Given the description of an element on the screen output the (x, y) to click on. 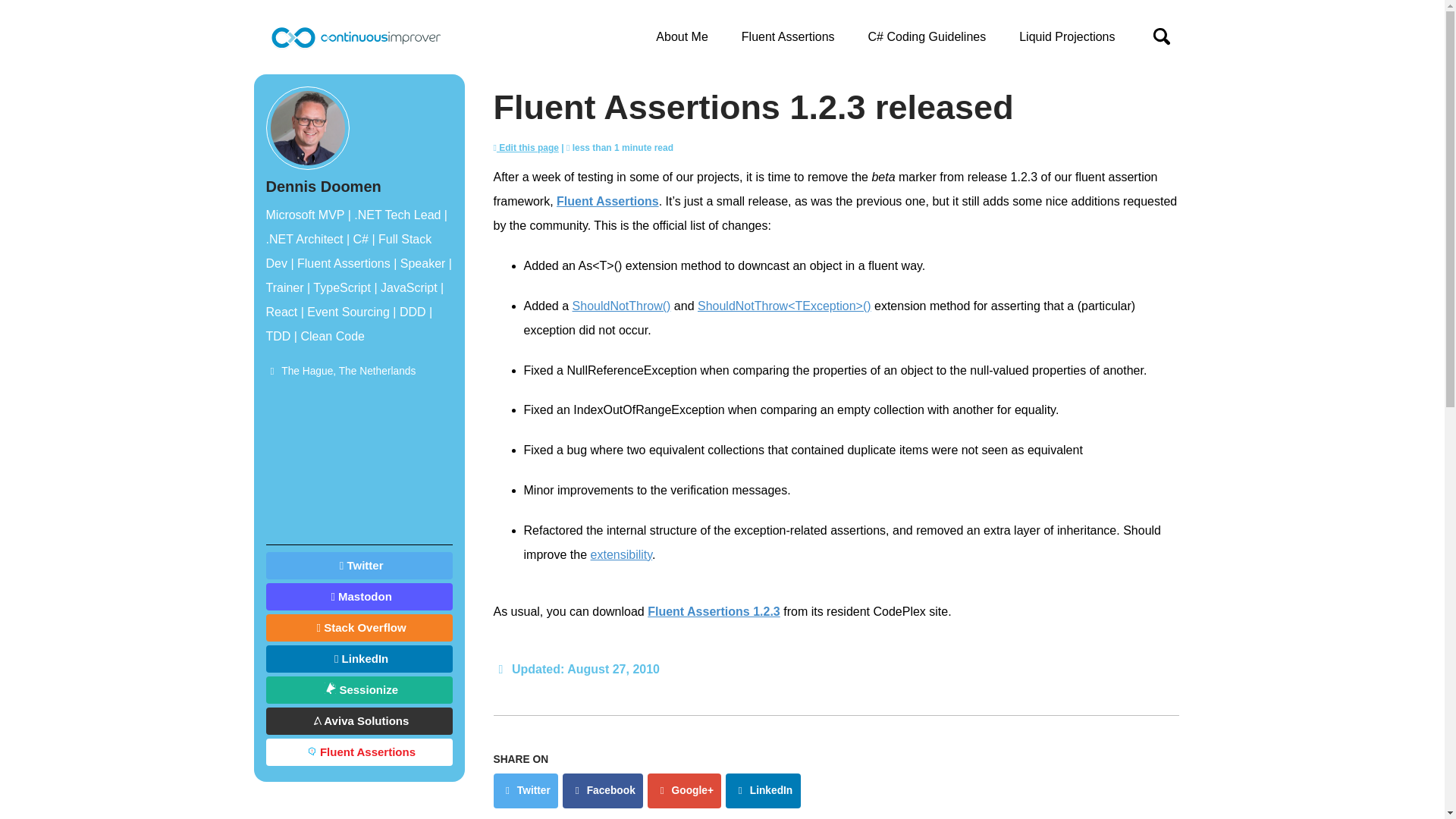
Share on LinkedIn (762, 790)
extensibility (621, 554)
Share on Facebook (602, 790)
Twitter (525, 790)
Fluent Assertions 1.2.3 (713, 611)
Facebook (602, 790)
Fluent Assertions (607, 201)
Share on Google Plus (683, 790)
Sessionize (357, 689)
LinkedIn (762, 790)
